Given the description of an element on the screen output the (x, y) to click on. 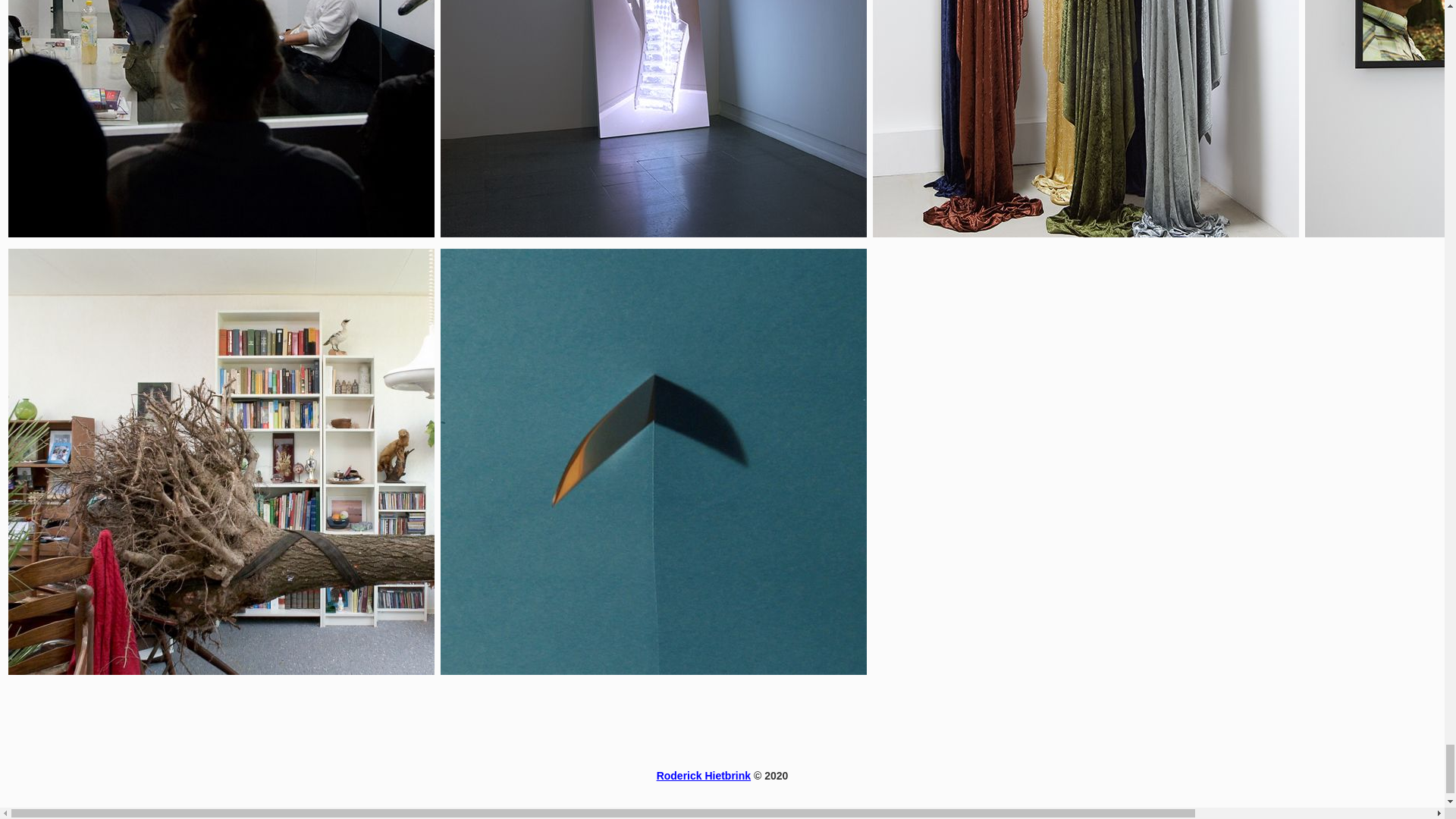
Roderick Hietbrink (703, 775)
